Given the description of an element on the screen output the (x, y) to click on. 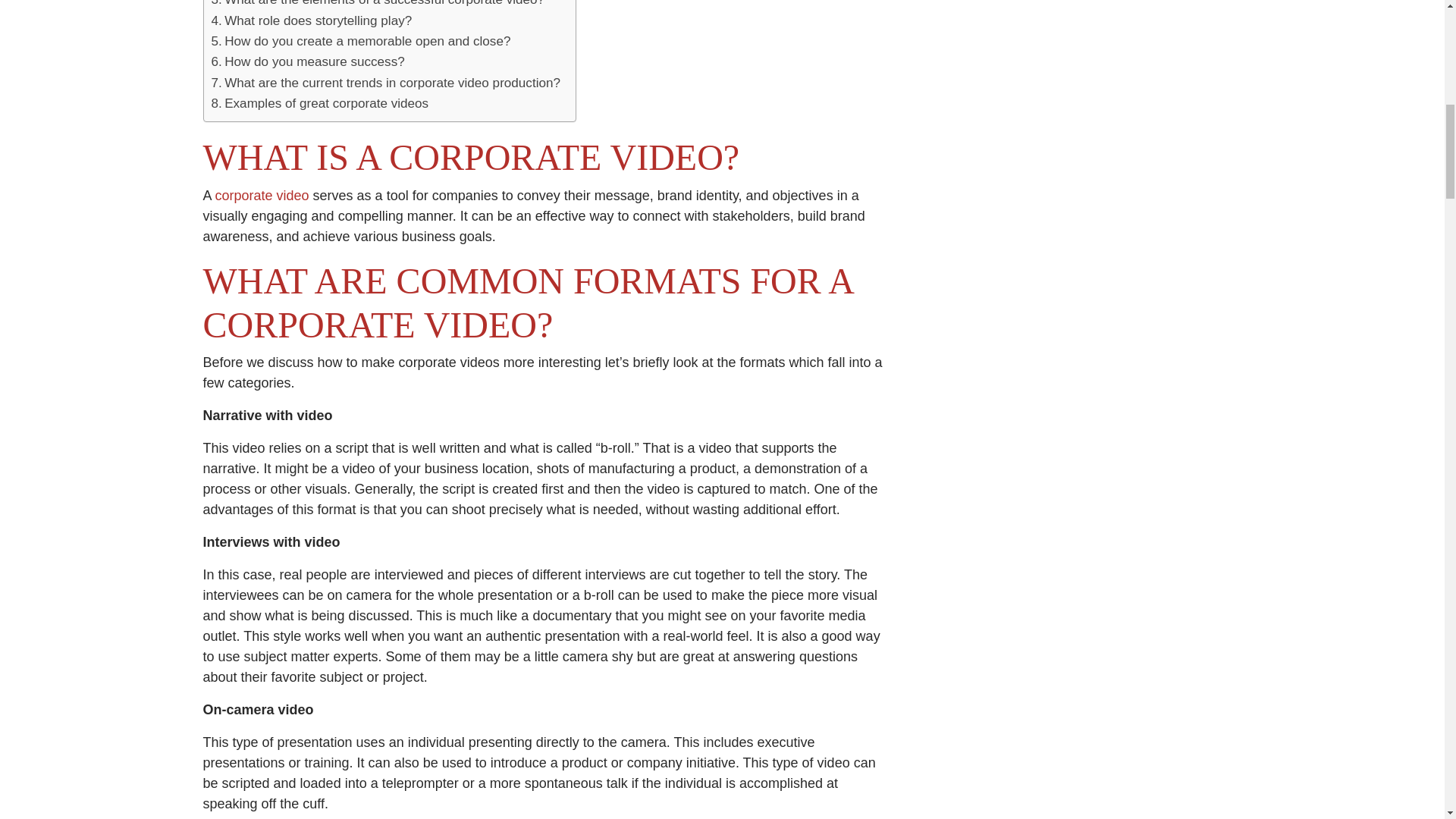
What are the current trends in corporate video production? (385, 82)
How do you create a memorable open and close? (361, 41)
What are the elements of a successful corporate video? (377, 4)
What role does storytelling play? (311, 20)
What are the elements of a successful corporate video? (377, 4)
How do you measure success? (307, 61)
corporate video (261, 195)
Examples of great corporate videos (319, 103)
What are the current trends in corporate video production? (385, 82)
What role does storytelling play? (311, 20)
